Given the description of an element on the screen output the (x, y) to click on. 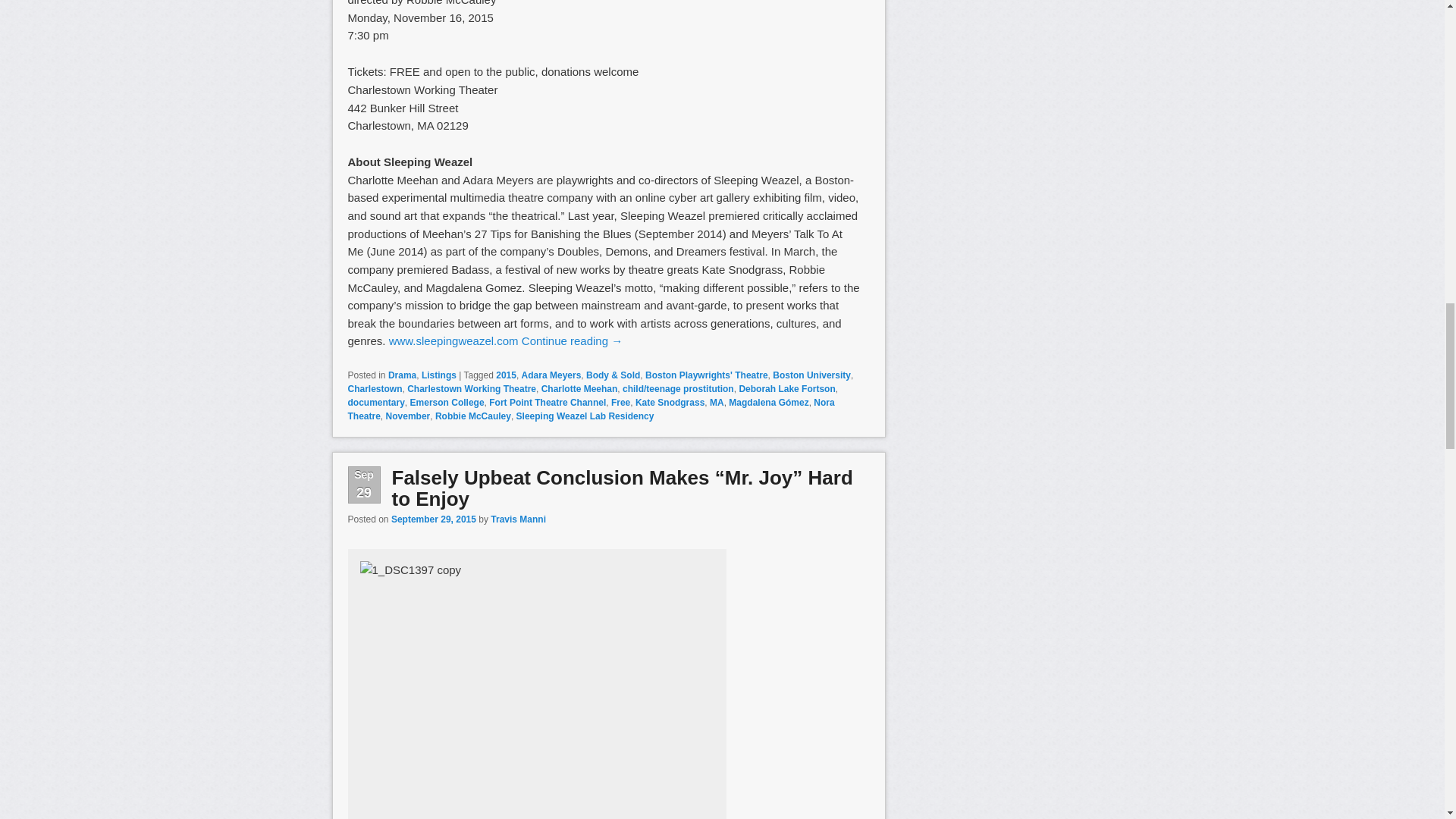
2015 (506, 375)
View all posts by Travis Manni (518, 519)
9:54 am (433, 519)
Listings (439, 375)
www.sleepingweazel.com (453, 340)
Drama (402, 375)
Adara Meyers (550, 375)
